Given the description of an element on the screen output the (x, y) to click on. 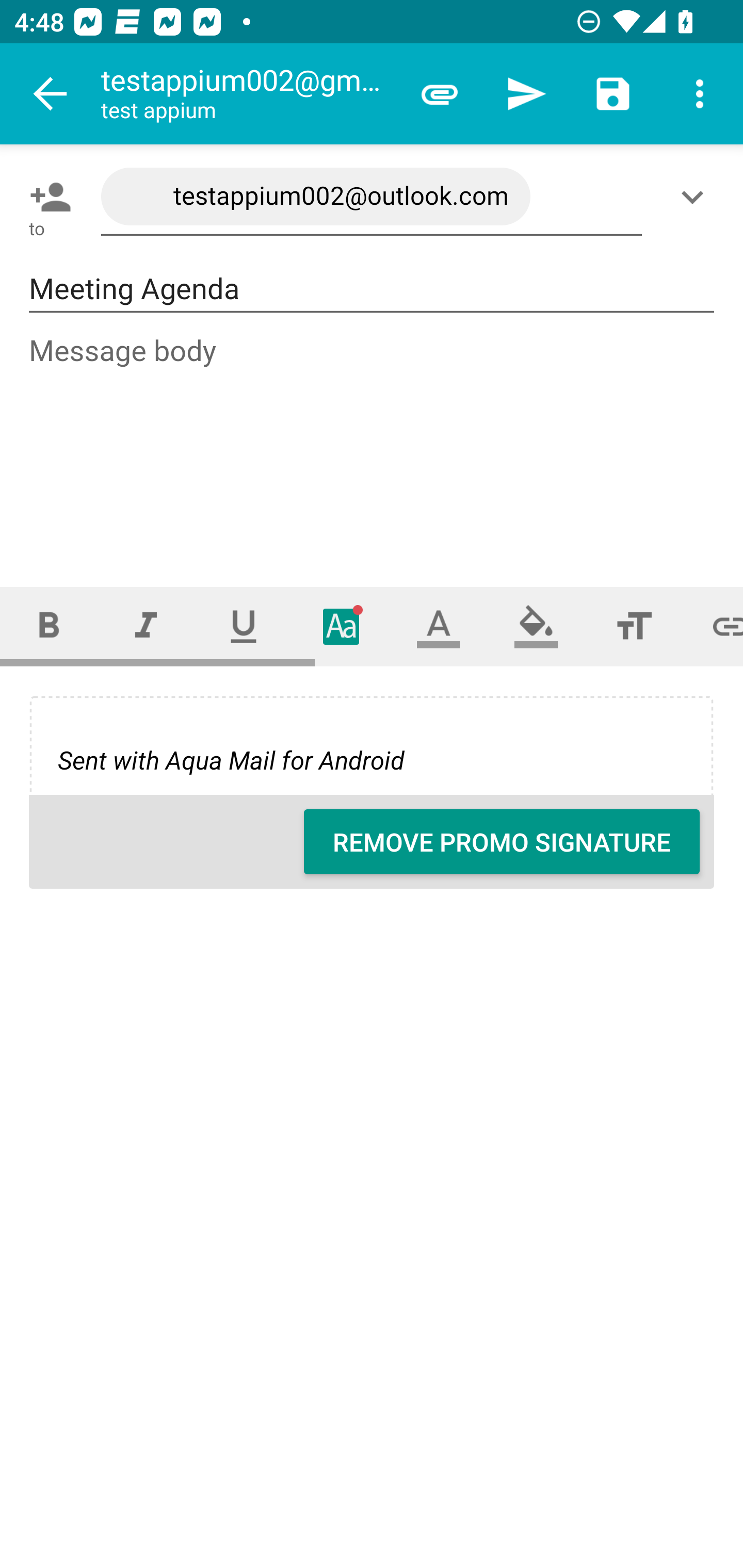
Navigate up (50, 93)
testappium002@gmail.com test appium (248, 93)
Attach (439, 93)
Send (525, 93)
Save (612, 93)
More options (699, 93)
testappium002@outlook.com,  (371, 197)
Pick contact: To (46, 196)
Show/Add CC/BCC (696, 196)
Meeting Agenda (371, 288)
Message body (372, 442)
Bold (48, 626)
Italic (145, 626)
Underline (243, 626)
Typeface (font) (341, 626)
Text color (438, 626)
Fill color (536, 626)
Font size (633, 626)
Set link (712, 626)
REMOVE PROMO SIGNATURE (501, 841)
